Given the description of an element on the screen output the (x, y) to click on. 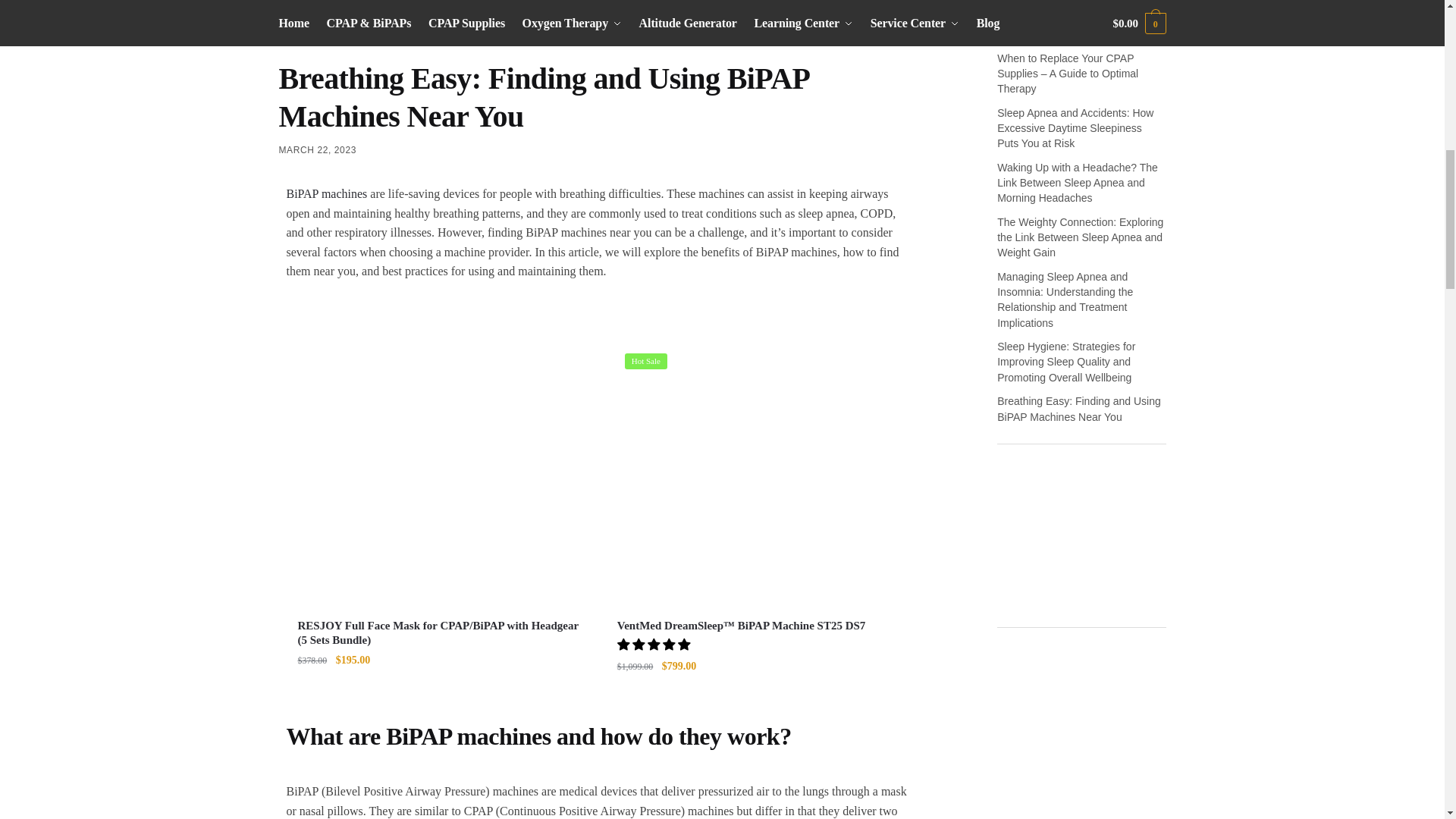
BiPAP machines (327, 193)
